Given the description of an element on the screen output the (x, y) to click on. 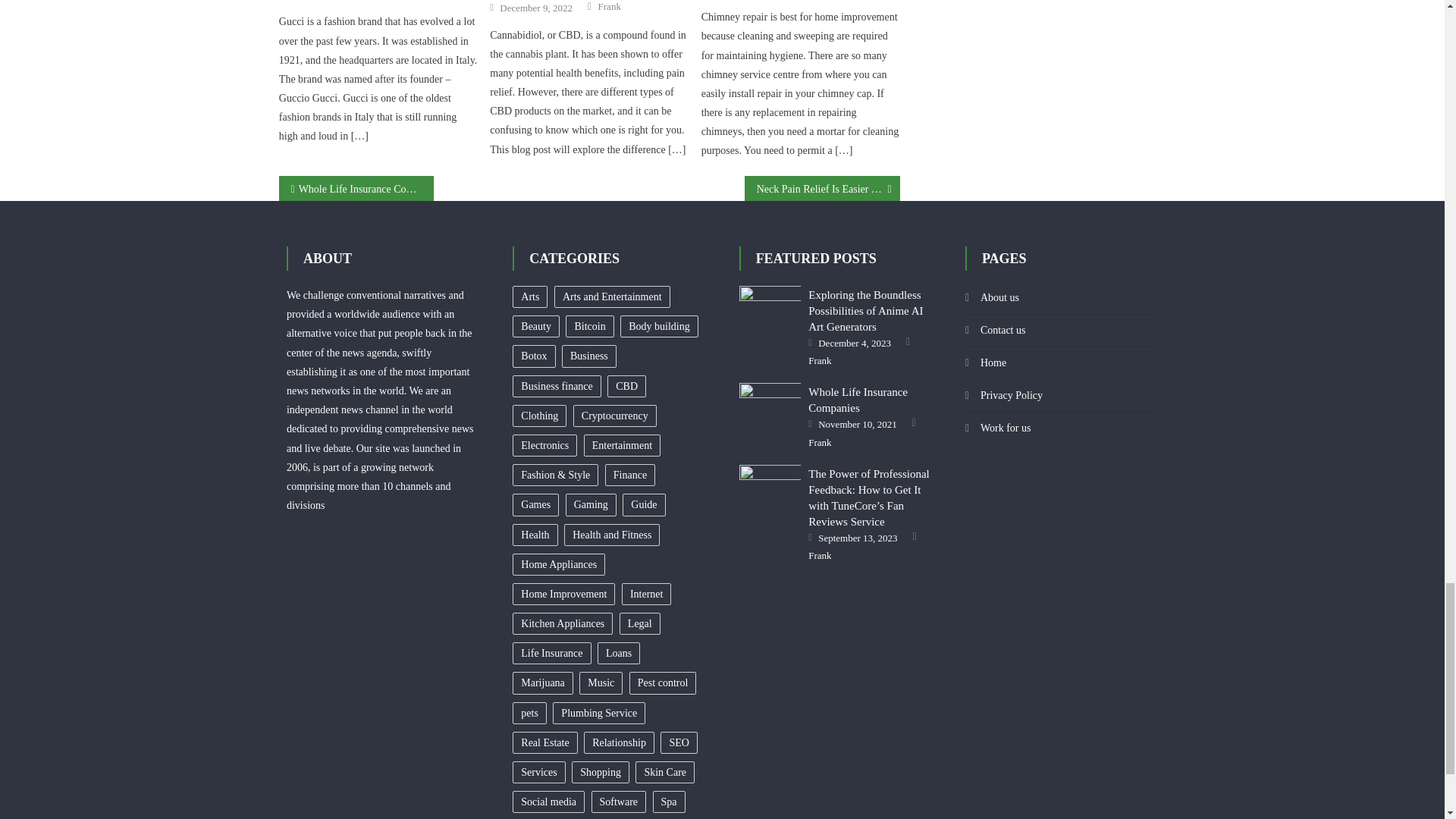
November 6, 2021 (325, 1)
Whole Life Insurance Companies (769, 404)
